Given the description of an element on the screen output the (x, y) to click on. 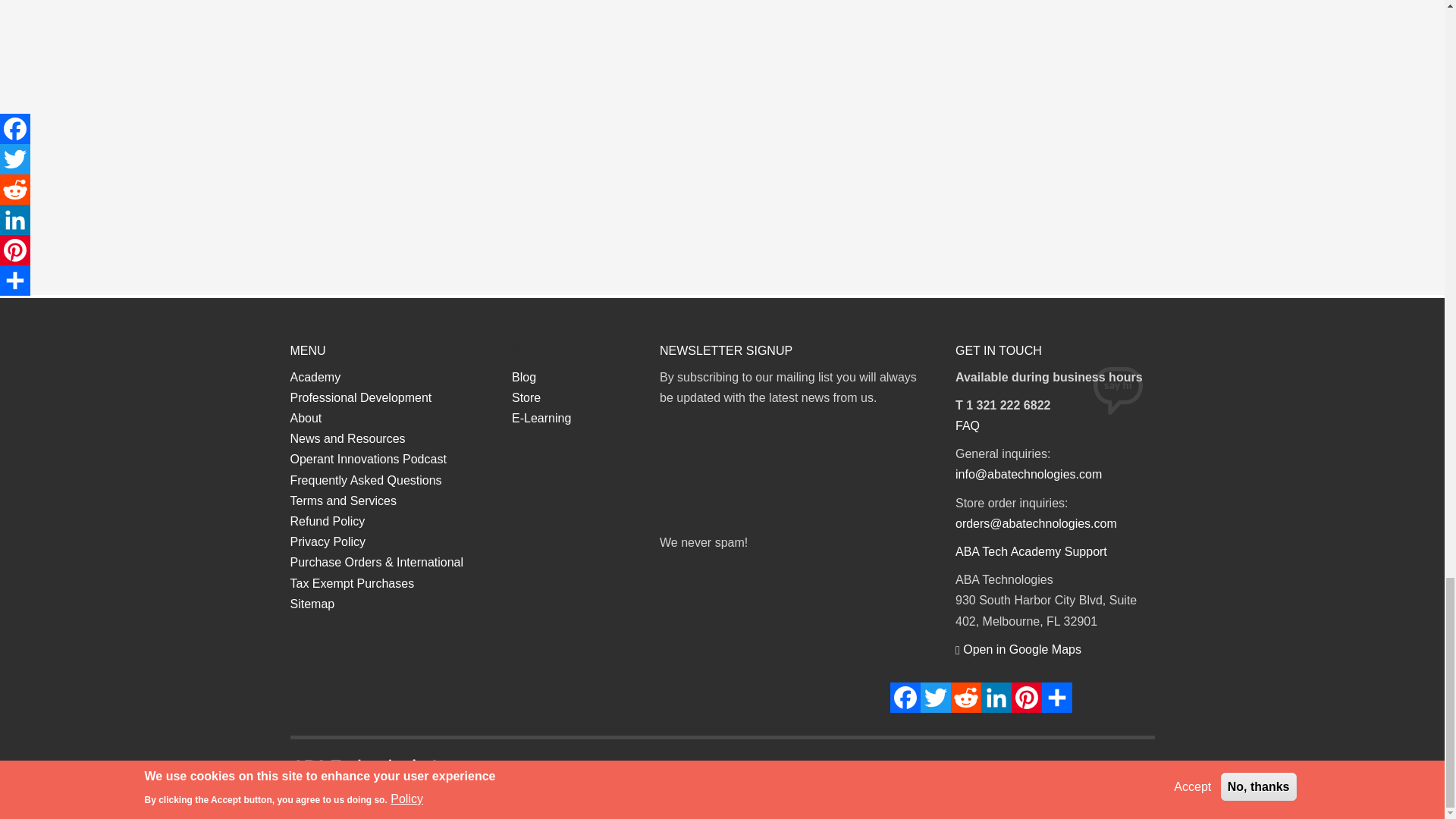
Form 1 (796, 473)
